Given the description of an element on the screen output the (x, y) to click on. 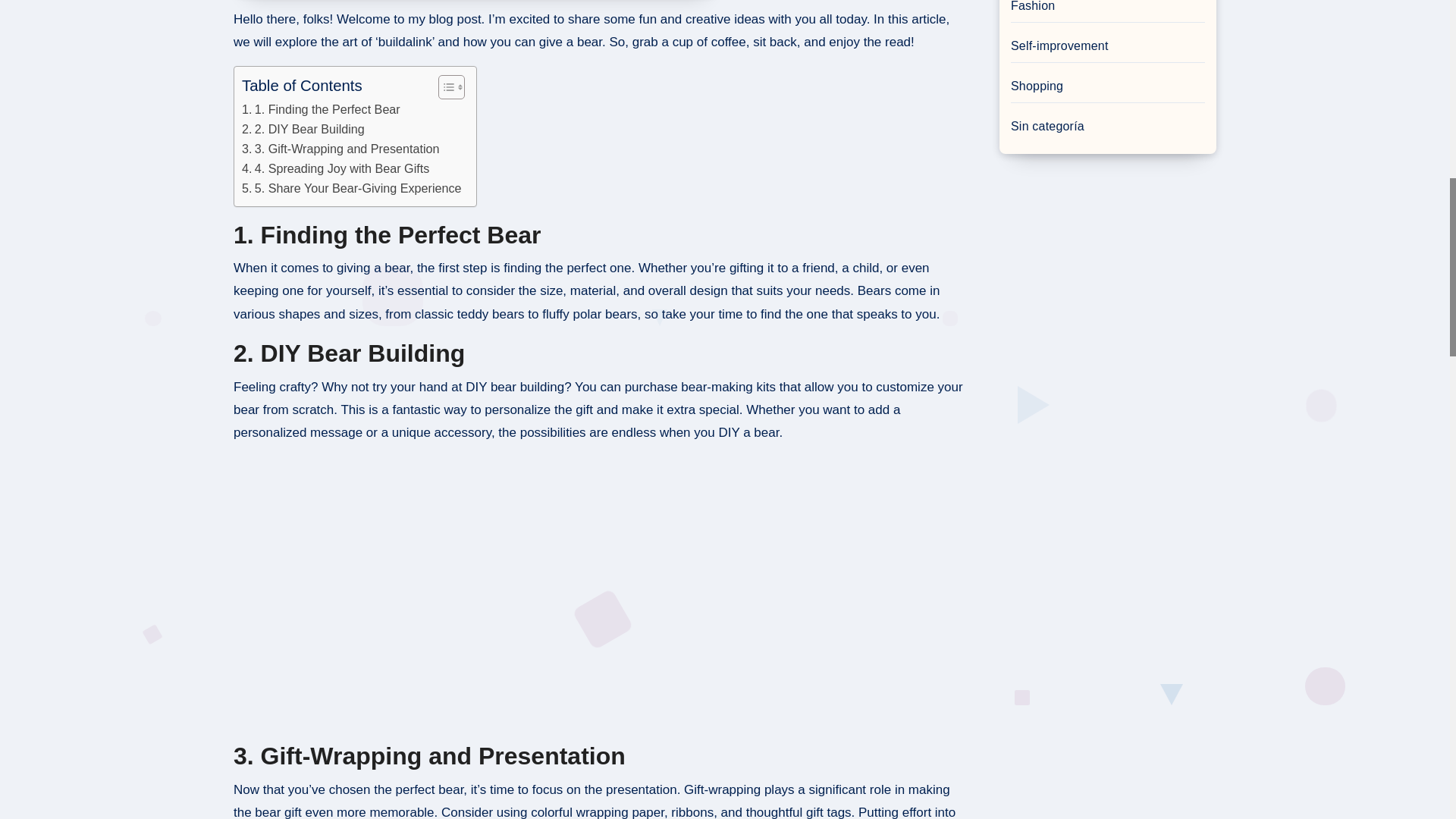
3. Gift-Wrapping and Presentation (340, 148)
4. Spreading Joy with Bear Gifts (335, 168)
2. DIY Bear Building (303, 129)
5. Share Your Bear-Giving Experience (351, 189)
2. DIY Bear Building (303, 129)
4. Spreading Joy with Bear Gifts (335, 168)
1. Finding the Perfect Bear (320, 109)
1. Finding the Perfect Bear (320, 109)
3. Gift-Wrapping and Presentation (340, 148)
5. Share Your Bear-Giving Experience (351, 189)
